Given the description of an element on the screen output the (x, y) to click on. 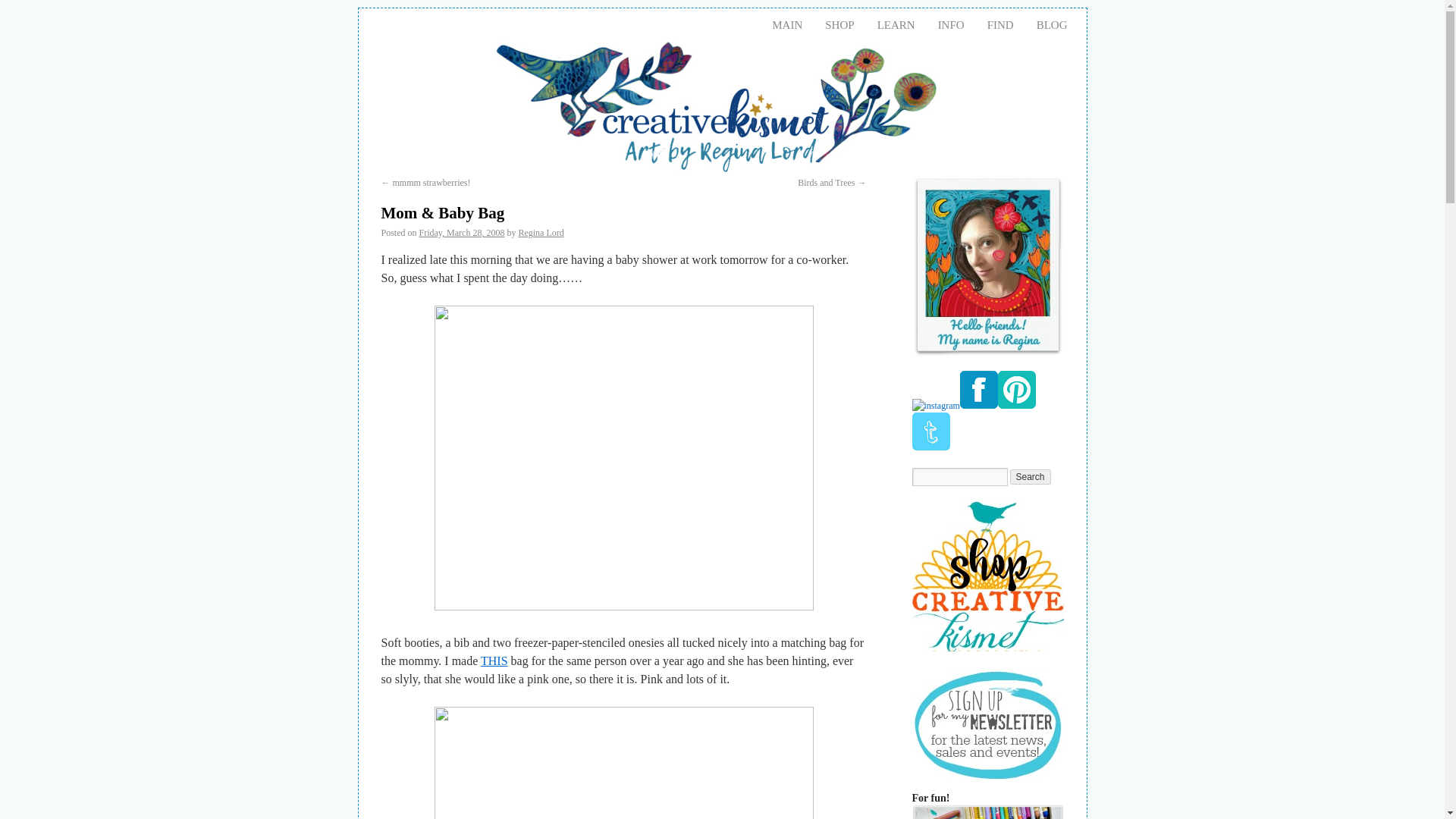
8:05 pm (462, 232)
LEARN (896, 24)
SHOP (838, 24)
MAIN (786, 24)
Friday, March 28, 2008 (462, 232)
FIND (1000, 24)
View all posts by Regina Lord (540, 232)
Regina Lord (540, 232)
THIS (494, 660)
BLOG (1051, 24)
Search (1030, 476)
INFO (950, 24)
